Given the description of an element on the screen output the (x, y) to click on. 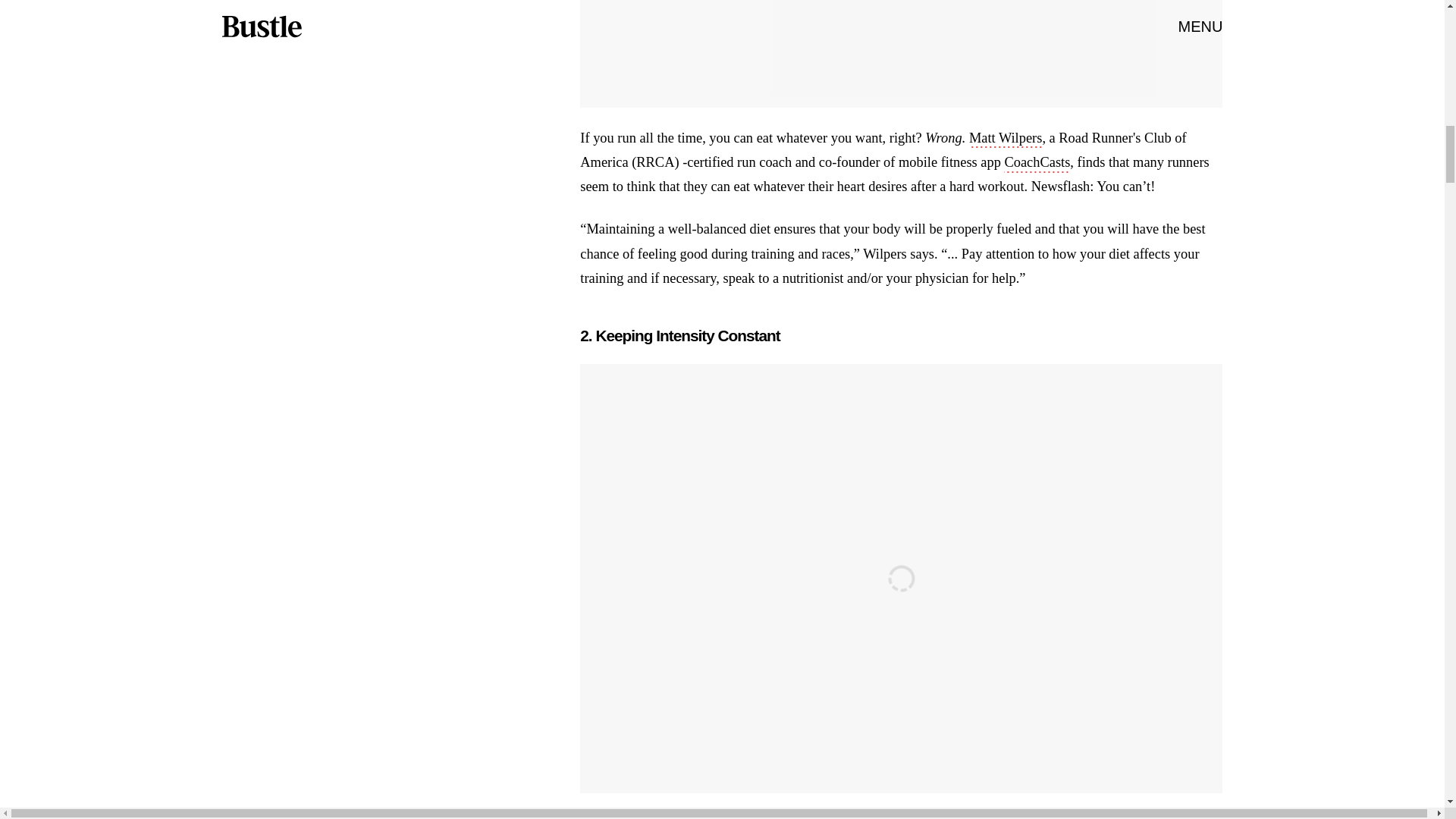
Matt Wilpers (1005, 139)
CoachCasts (1037, 163)
Runstreet (1035, 817)
